Given the description of an element on the screen output the (x, y) to click on. 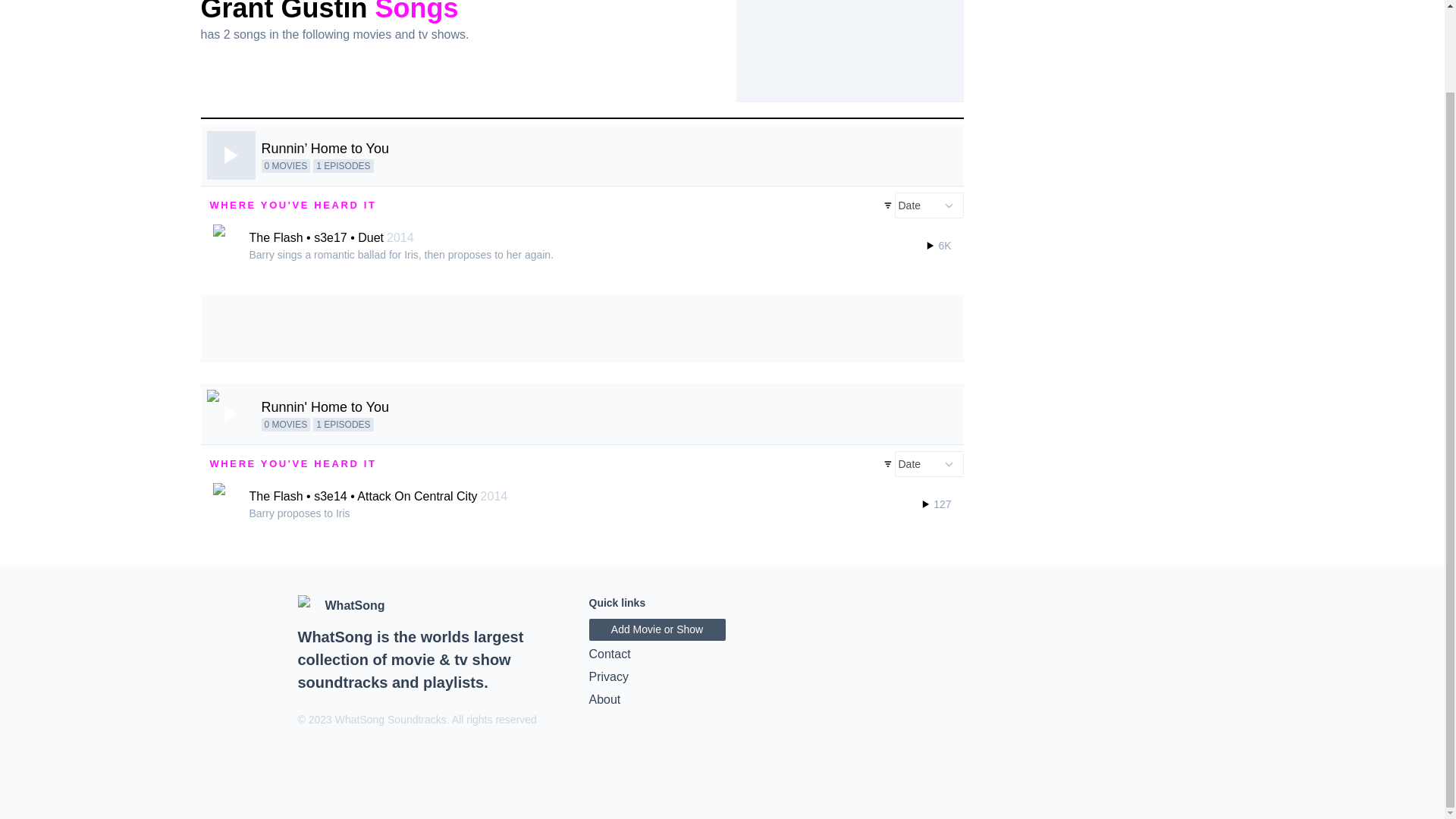
Runnin' Home to You (324, 407)
Contact (722, 654)
Add Movie or Show (656, 629)
Privacy (722, 677)
About (722, 700)
